Given the description of an element on the screen output the (x, y) to click on. 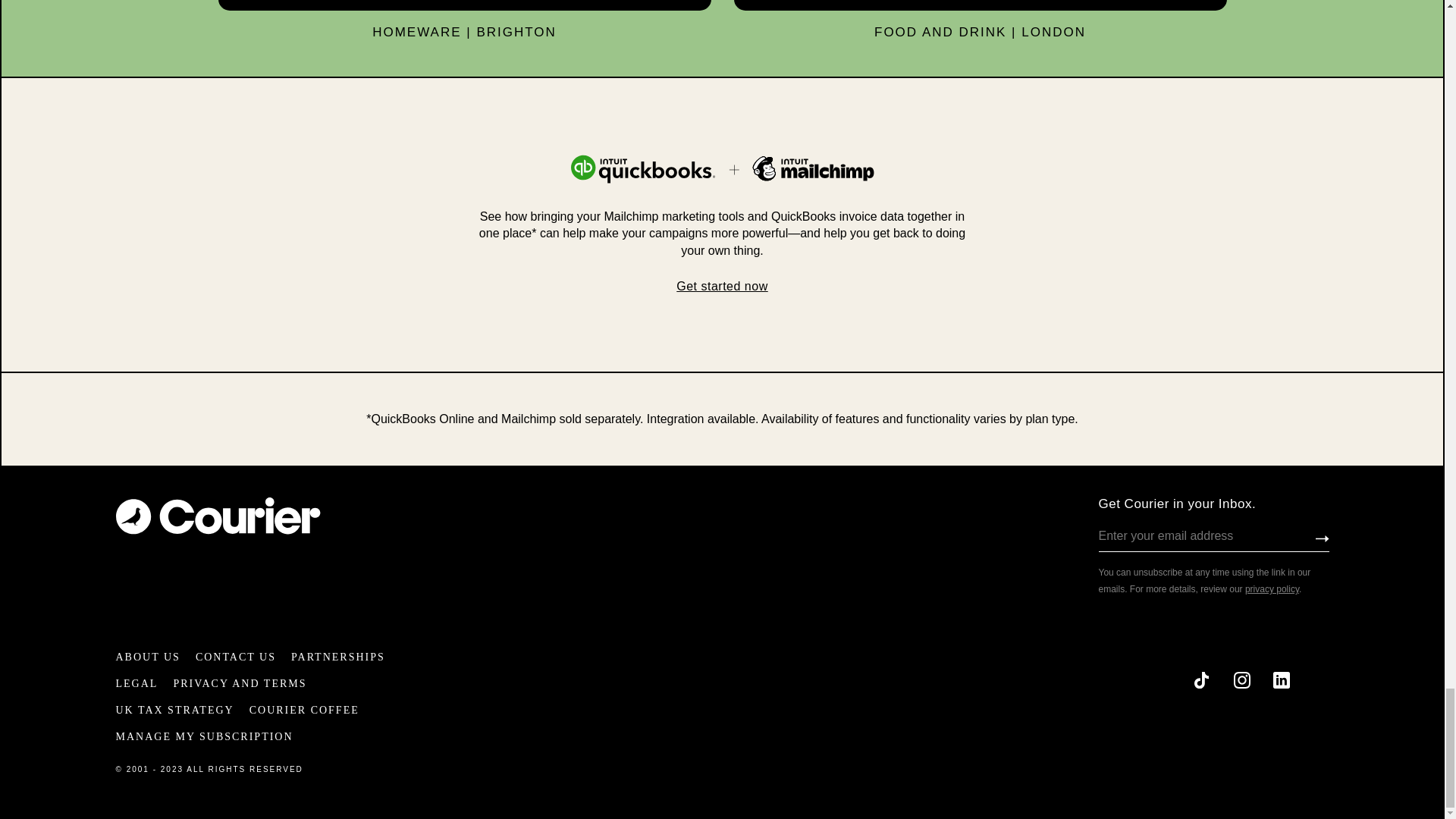
Get started now (722, 286)
UK TAX STRATEGY (173, 709)
MANAGE MY SUBSCRIPTION (203, 736)
PARTNERSHIPS (338, 656)
ABOUT US (147, 656)
CONTACT US (235, 656)
PRIVACY AND TERMS (239, 683)
privacy policy (1271, 588)
LEGAL (136, 683)
COURIER COFFEE (303, 709)
